Given the description of an element on the screen output the (x, y) to click on. 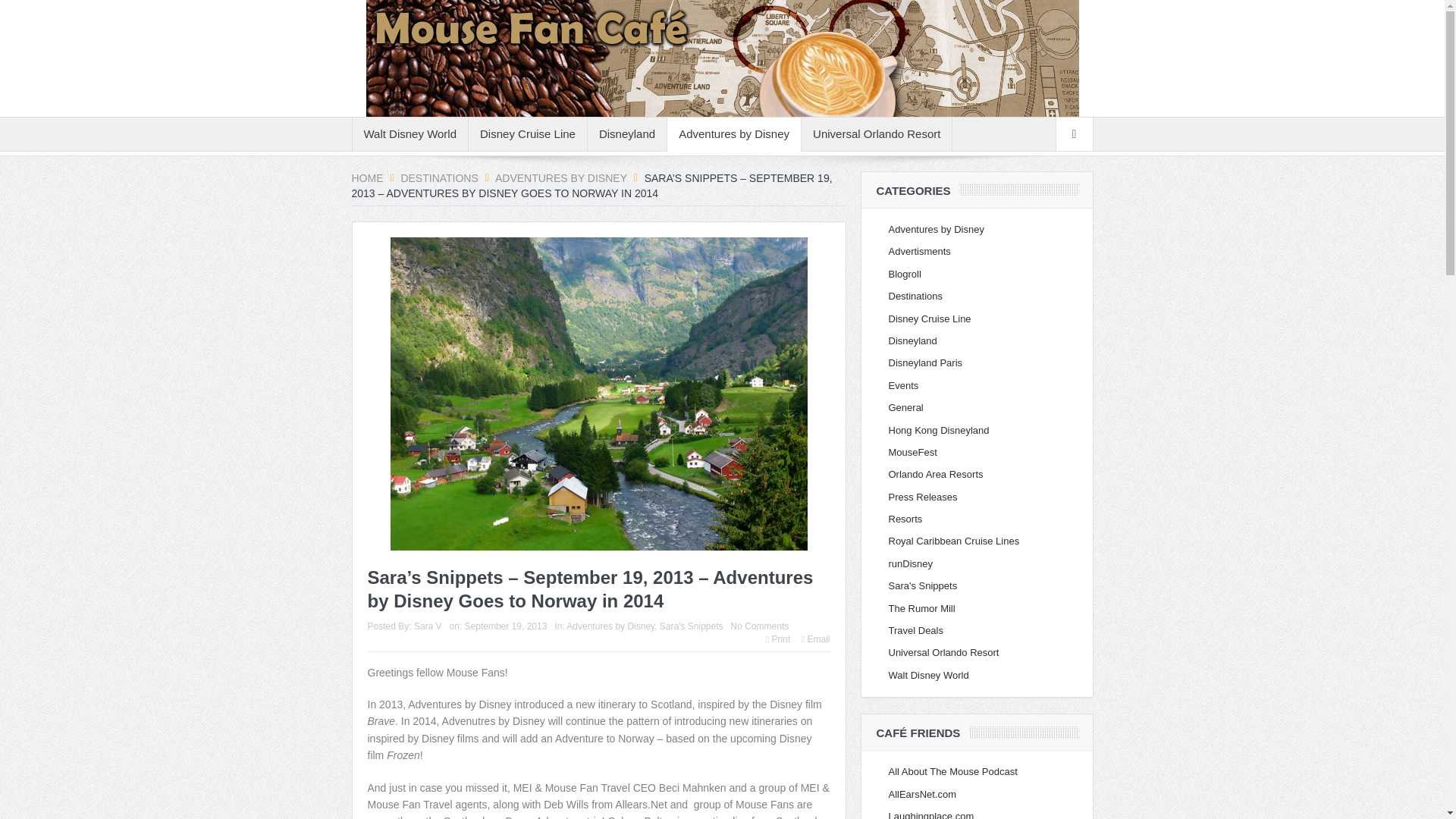
Walt Disney World (409, 133)
Disney Cruise Line (527, 133)
ADVENTURES BY DISNEY (561, 177)
Disneyland (627, 133)
No Comments (759, 625)
View all posts in Adventures by Disney (609, 625)
Adventures by Disney (733, 133)
Destinations (438, 177)
Email (815, 638)
HOME (368, 177)
Print (777, 638)
Sara's Snippets (691, 625)
Sara V (427, 625)
Adventures by Disney (561, 177)
Universal Orlando Resort (877, 133)
